Given the description of an element on the screen output the (x, y) to click on. 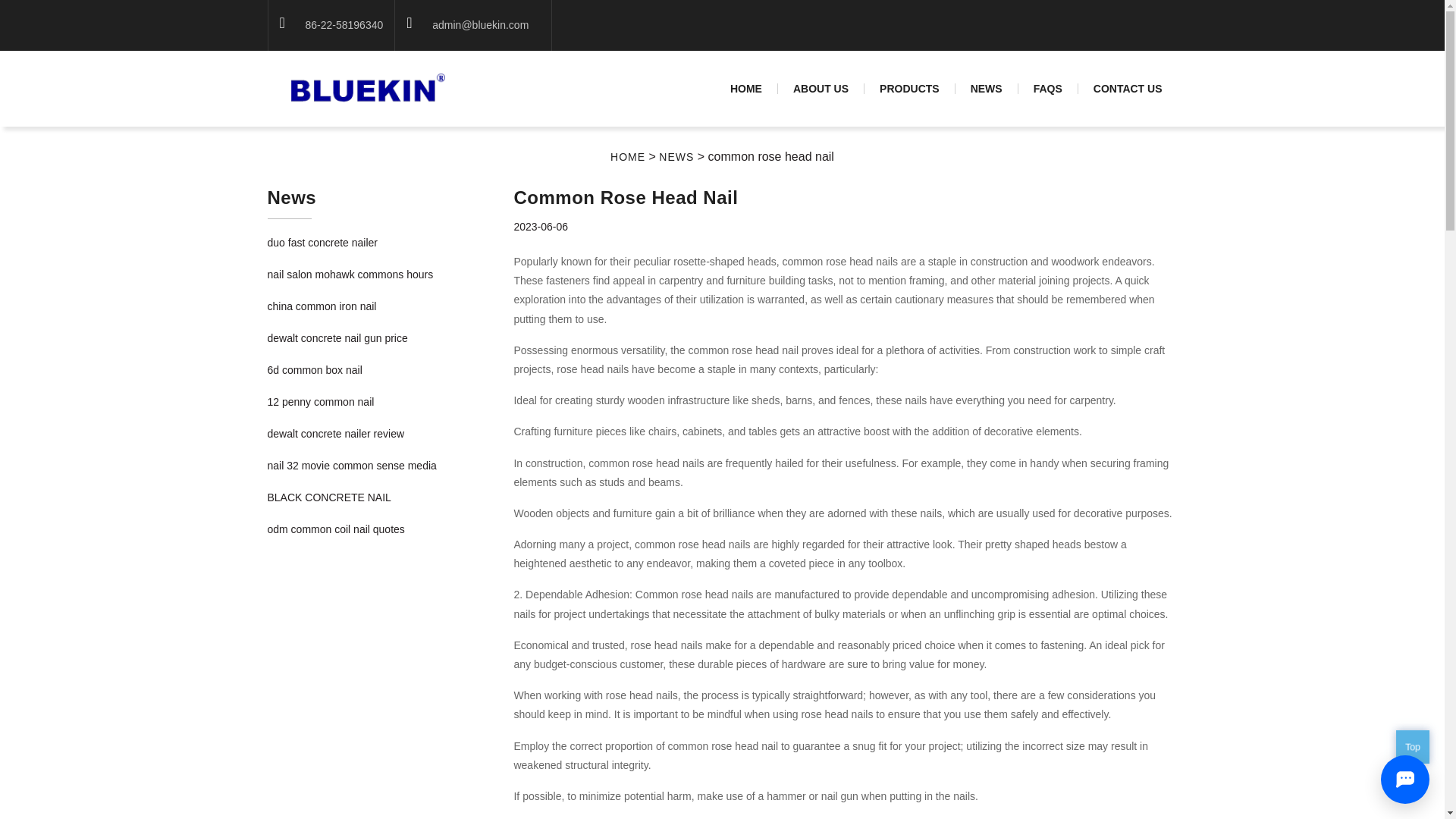
12 penny common nail (320, 401)
nail 32 movie common sense media (350, 465)
nail 32 movie common sense media (350, 465)
HOME (627, 156)
NEWS (676, 156)
ABOUT US (820, 88)
odm common coil nail quotes (335, 529)
PRODUCTS (909, 88)
dewalt concrete nail gun price (336, 337)
duo fast concrete nailer (321, 242)
